Given the description of an element on the screen output the (x, y) to click on. 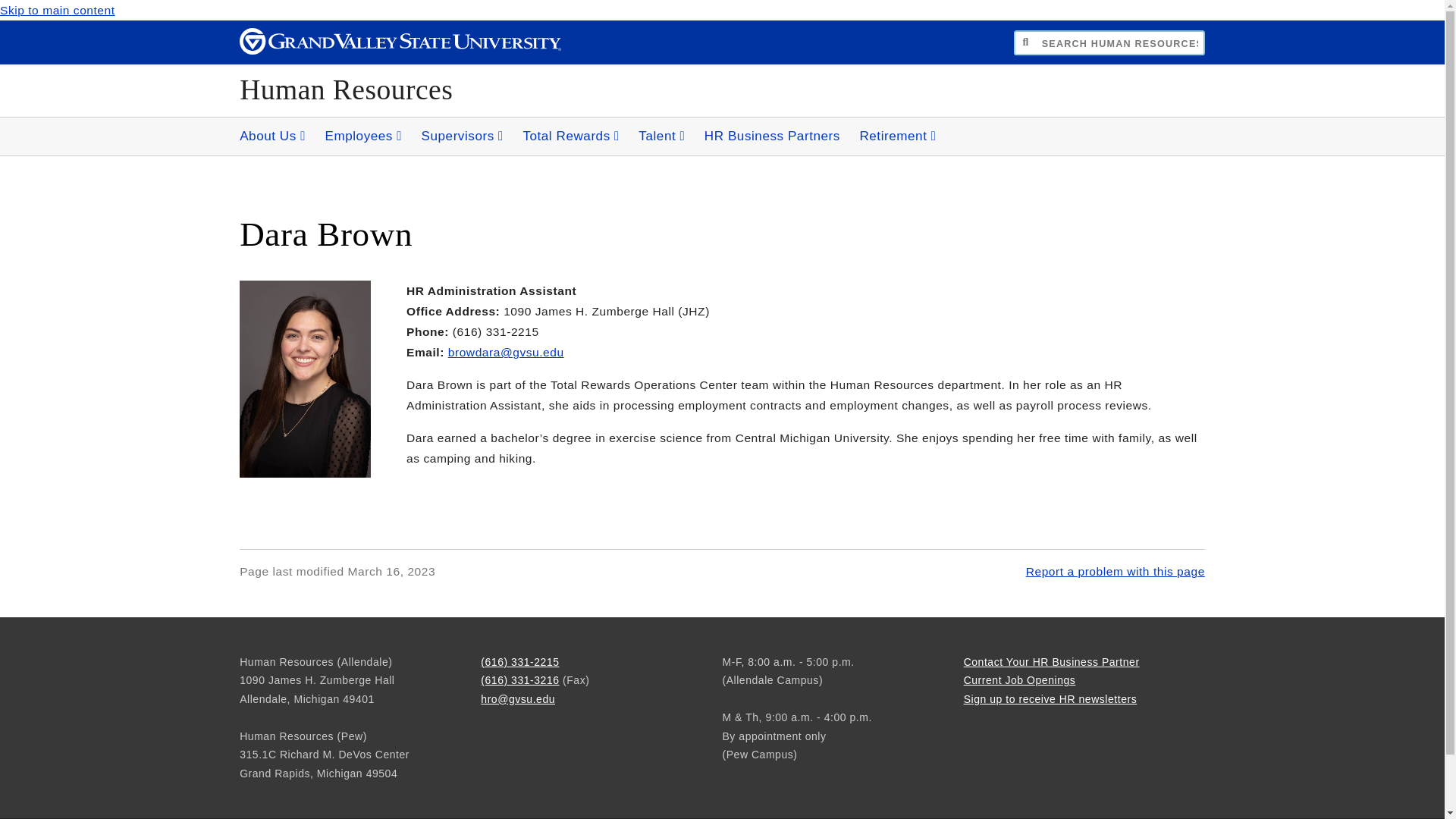
About Us (272, 136)
Skip to main content (57, 10)
Human Resources (346, 89)
Employees (363, 136)
Retirement (897, 136)
Total Rewards (571, 136)
HR Business Partners (772, 136)
Supervisors (462, 136)
Talent (661, 136)
